Given the description of an element on the screen output the (x, y) to click on. 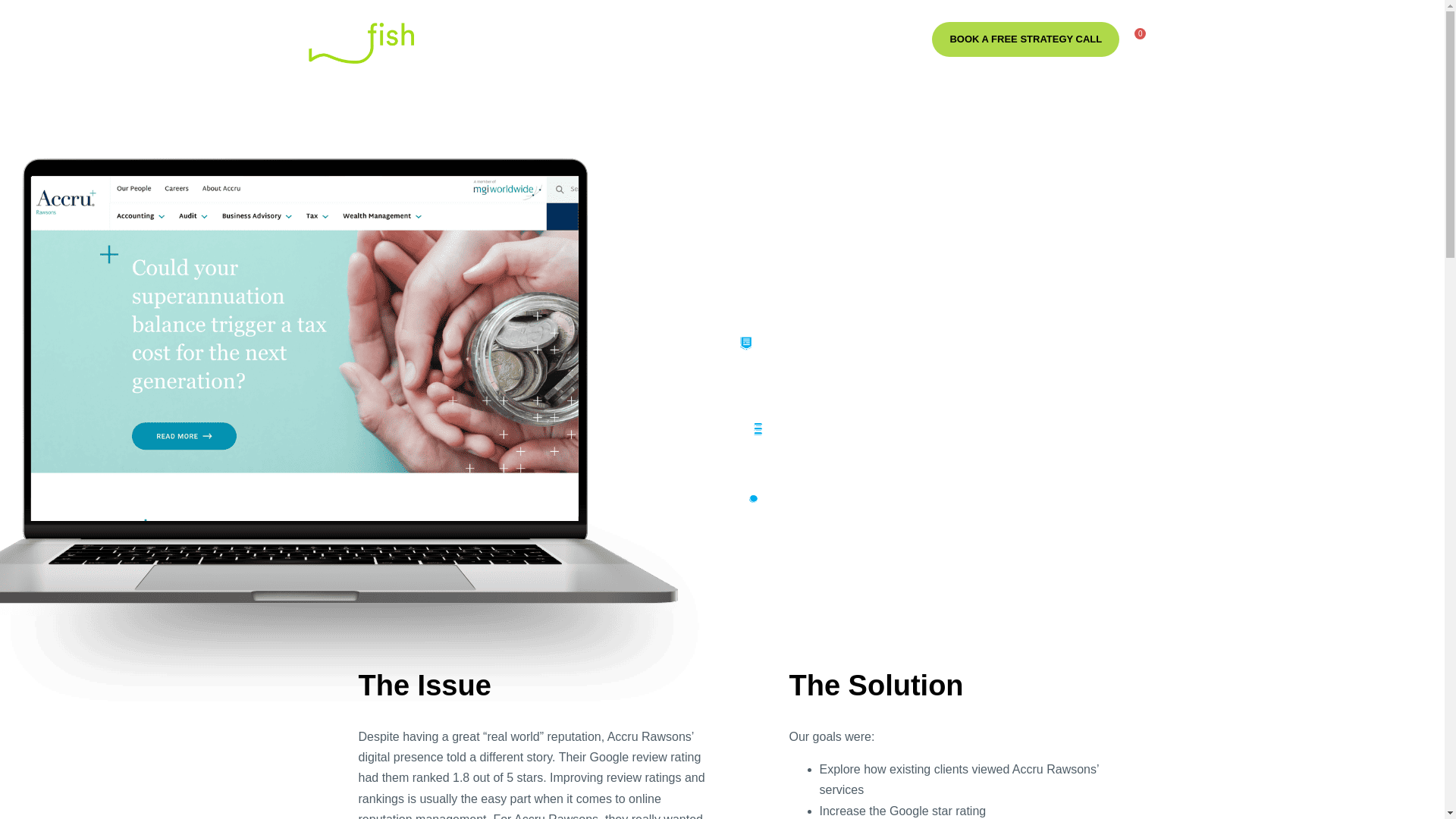
BOOK A FREE STRATEGY CALL (1025, 39)
Praise (701, 39)
Our work (761, 39)
0 (1134, 39)
About (576, 39)
Contact (867, 39)
Blog (816, 39)
